Given the description of an element on the screen output the (x, y) to click on. 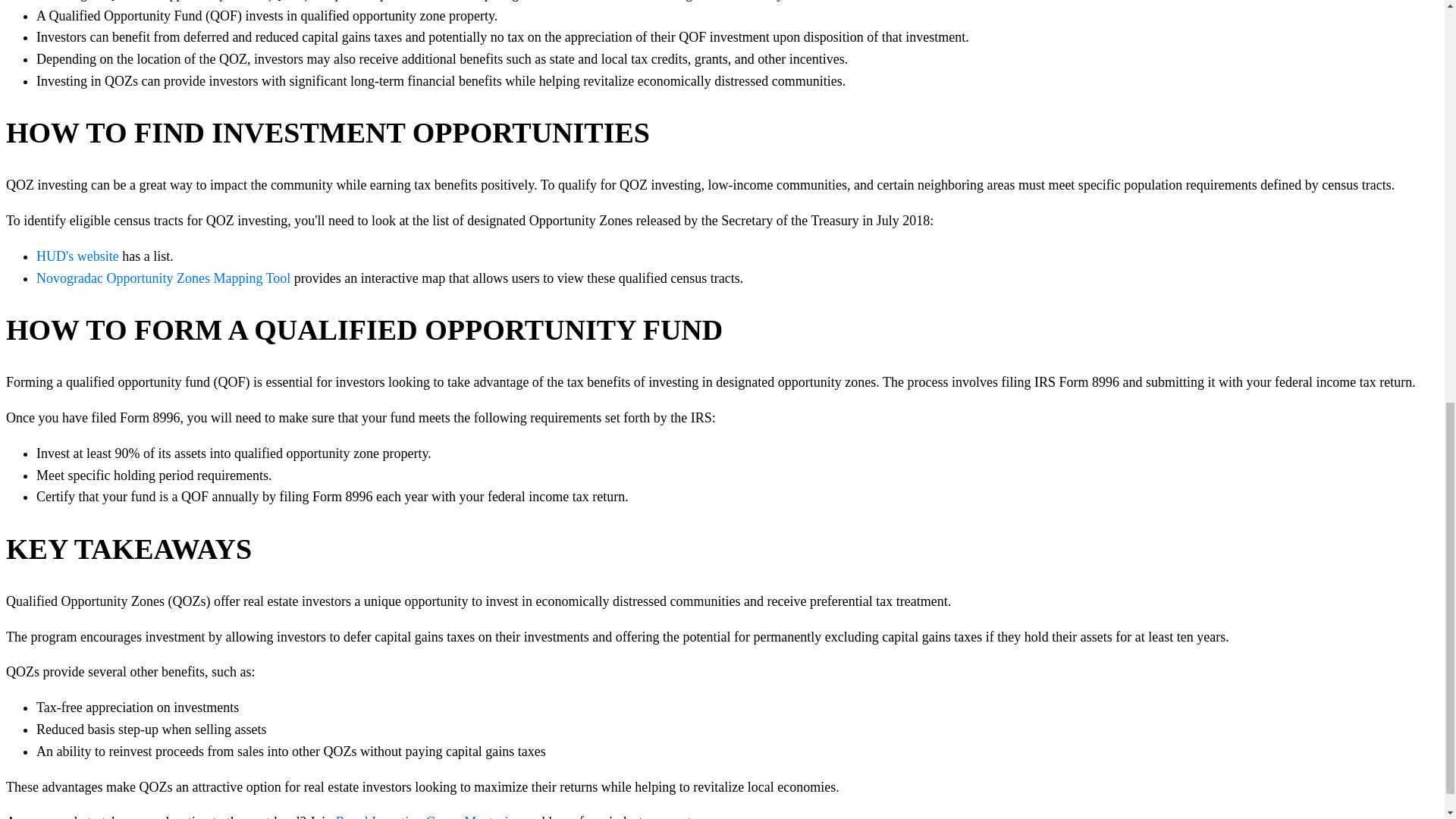
Royal Investing Group Mentoring (428, 816)
Novogradac Opportunity Zones Mapping Tool (162, 278)
HUD's website (77, 255)
